Given the description of an element on the screen output the (x, y) to click on. 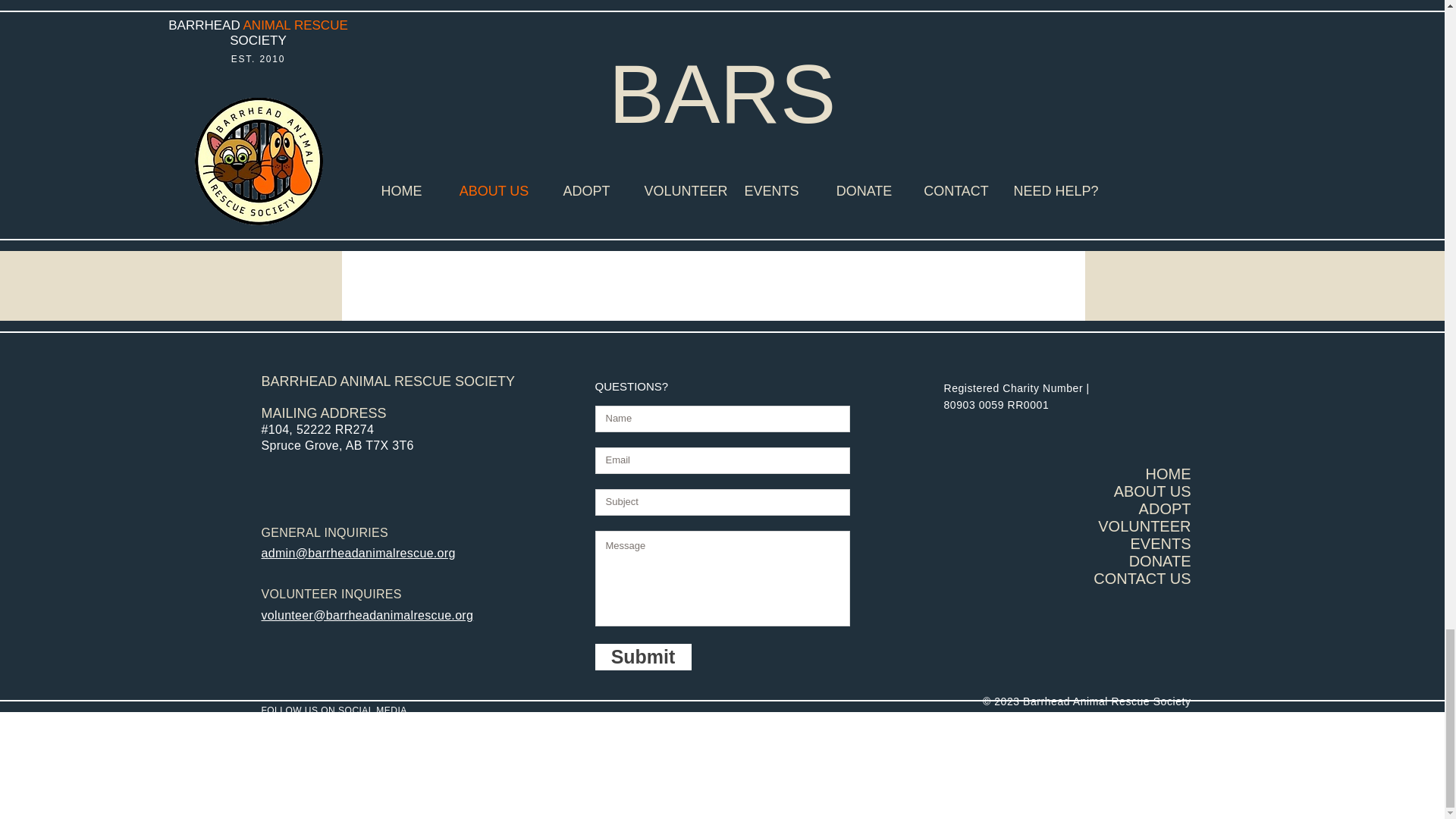
Submit (642, 656)
HOME (1167, 474)
